Given the description of an element on the screen output the (x, y) to click on. 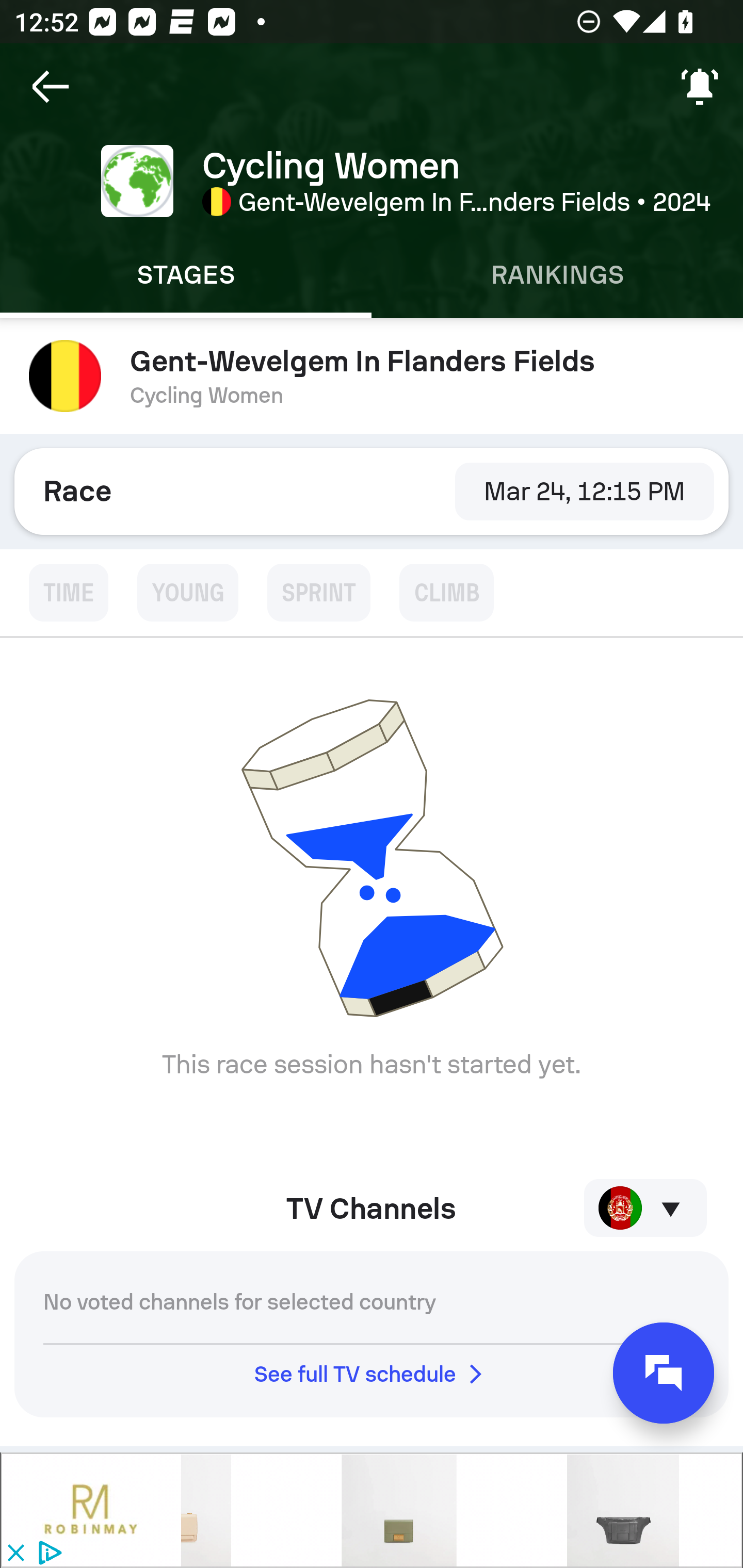
Navigate up (50, 86)
Rankings RANKINGS (557, 275)
Race Mar 24, 12:15 PM (371, 491)
Mar 24, 12:15 PM (584, 491)
CHAT (663, 1372)
See full TV schedule (371, 1374)
close_button (14, 1553)
privacy_small (47, 1553)
